Given the description of an element on the screen output the (x, y) to click on. 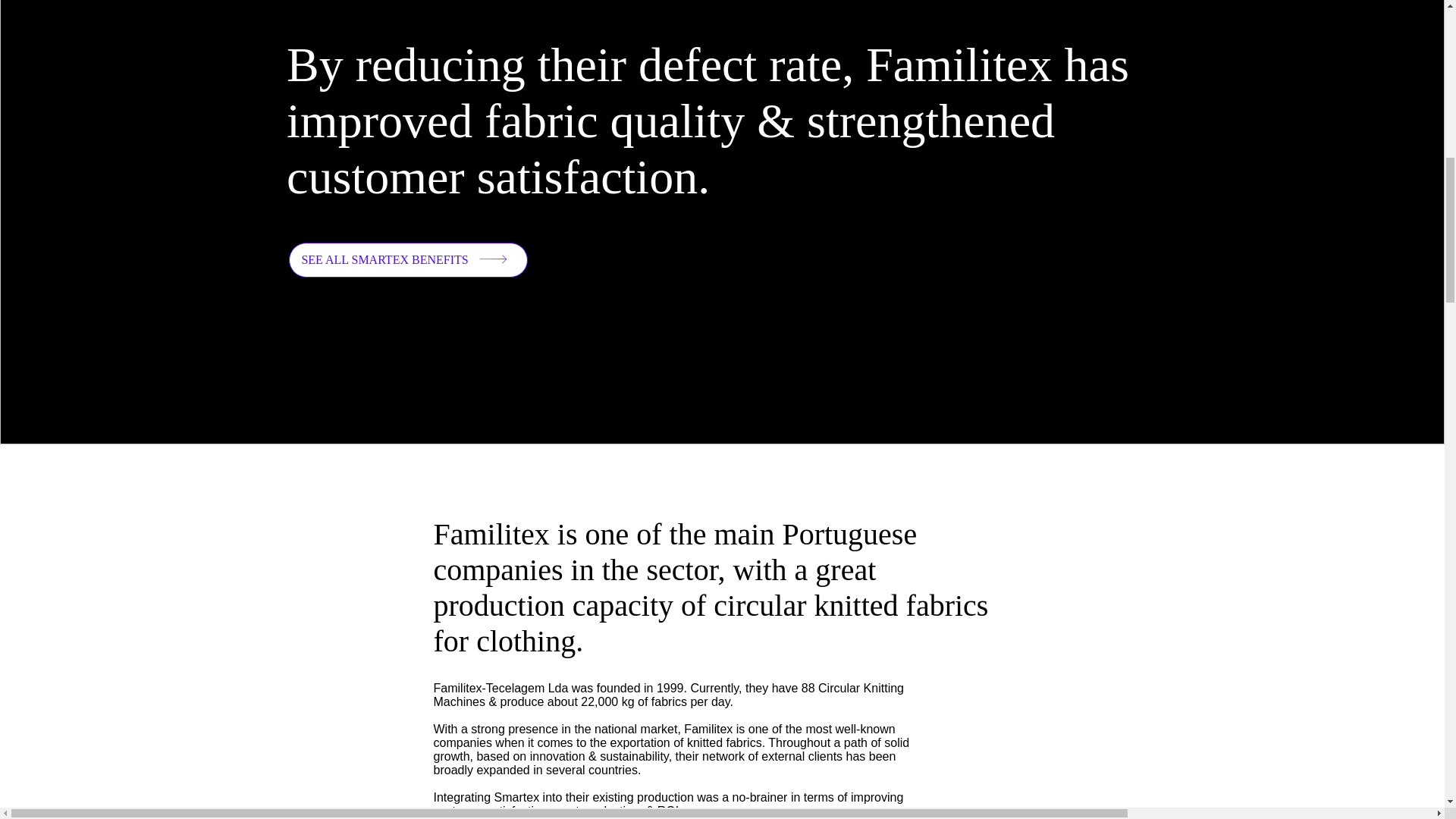
SEE ALL SMARTEX BENEFITS (407, 259)
